Given the description of an element on the screen output the (x, y) to click on. 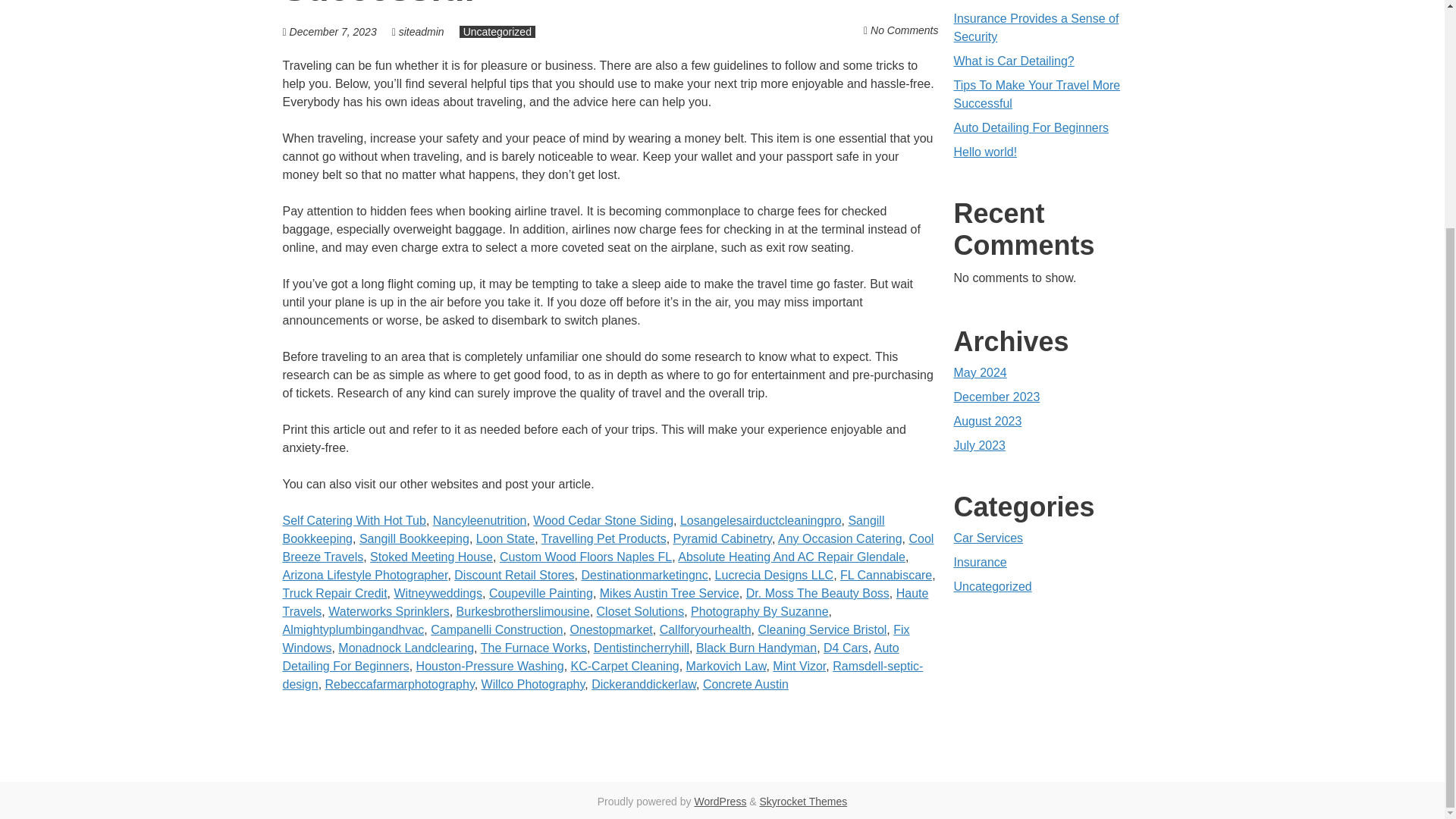
Truck Repair Credit (334, 593)
Stoked Meeting House (431, 556)
Destinationmarketingnc (643, 574)
Closet Solutions (640, 611)
View all posts by siteadmin (421, 31)
siteadmin (421, 31)
Self Catering With Hot Tub (353, 520)
Mikes Austin Tree Service (669, 593)
Campanelli Construction (496, 629)
FL Cannabiscare (885, 574)
Losangelesairductcleaningpro (760, 520)
Sangill Bookkeeping (582, 529)
Nancyleenutrition (479, 520)
Uncategorized (497, 31)
Dr. Moss The Beauty Boss (817, 593)
